Given the description of an element on the screen output the (x, y) to click on. 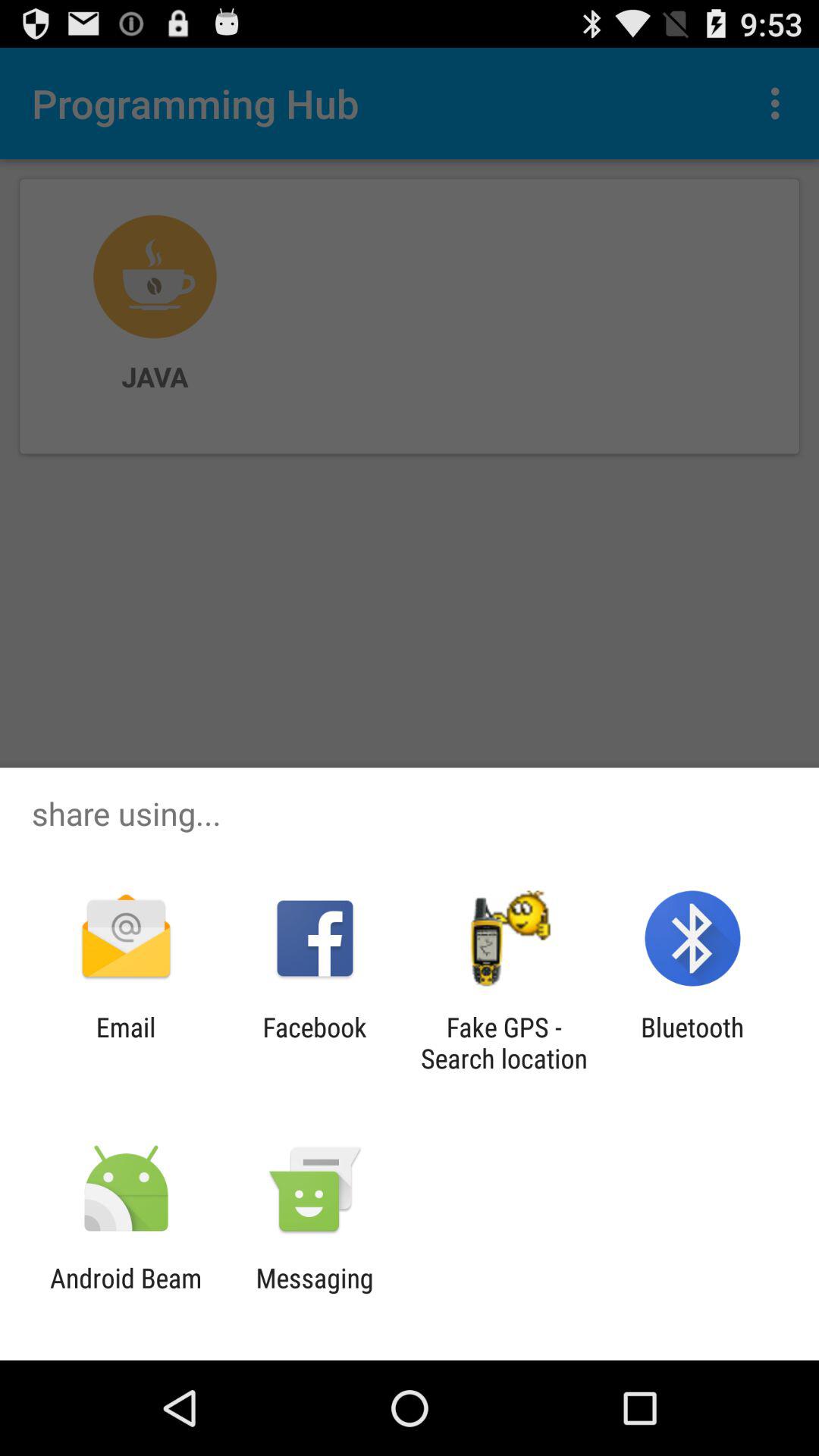
turn off app to the left of the fake gps search icon (314, 1042)
